Given the description of an element on the screen output the (x, y) to click on. 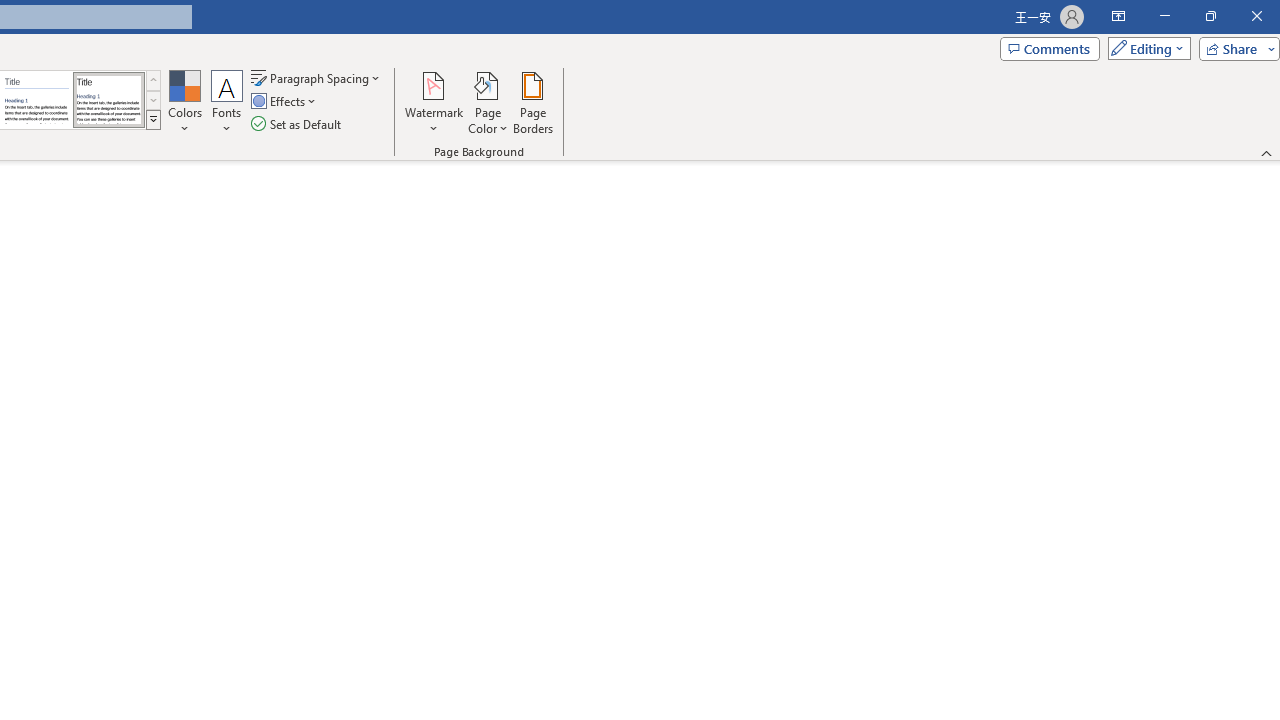
Page Color (487, 102)
Word 2010 (36, 100)
Paragraph Spacing (317, 78)
Style Set (153, 120)
Word 2013 (108, 100)
Watermark (434, 102)
Fonts (227, 102)
